Given the description of an element on the screen output the (x, y) to click on. 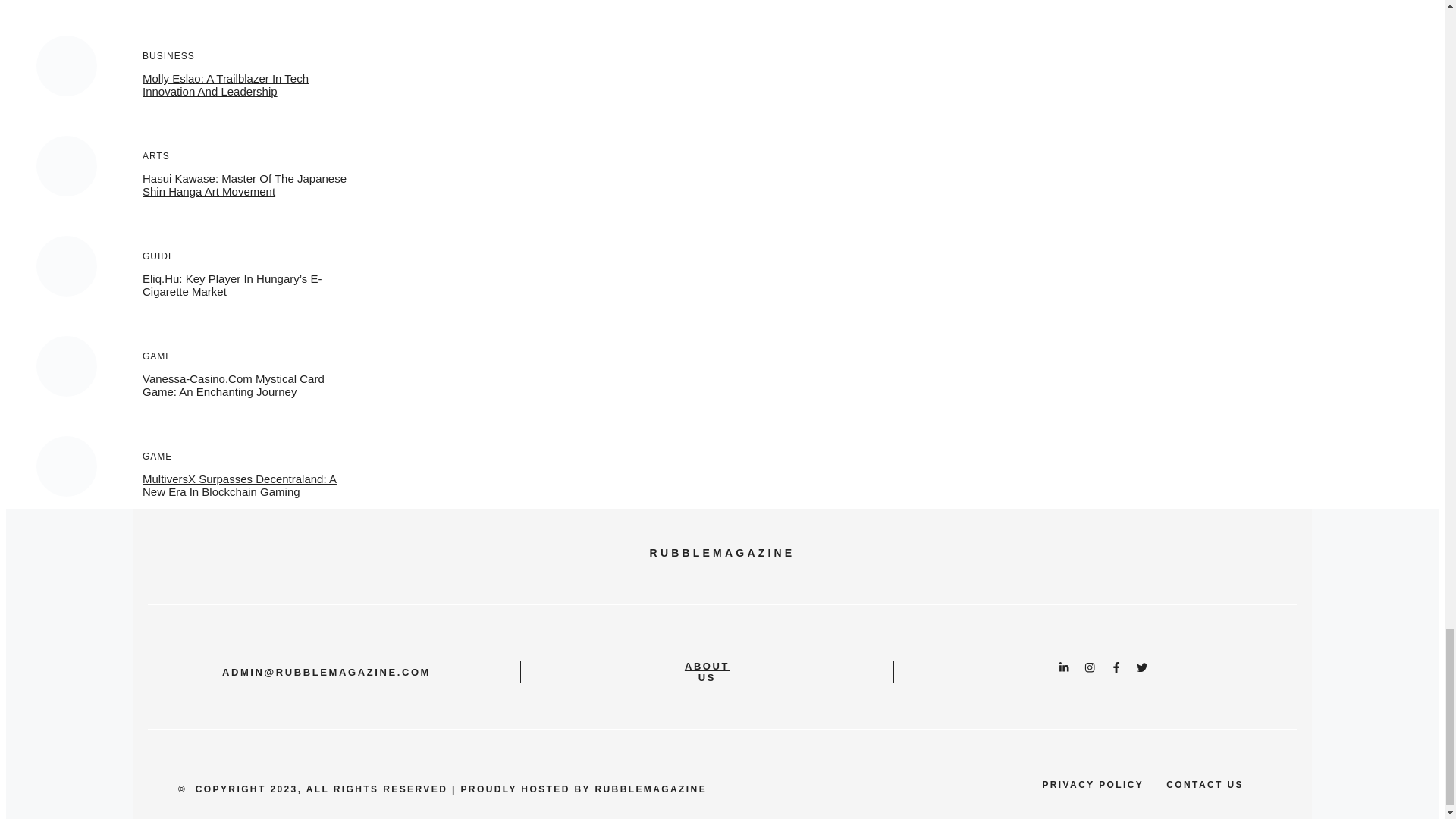
Vanessa-Casino.Com Mystical Card Game: An Enchanting Journey (233, 385)
Molly Eslao: A Trailblazer In Tech Innovation And Leadership (225, 84)
Hasui Kawase: Master Of The Japanese Shin Hanga Art Movement (244, 184)
